Given the description of an element on the screen output the (x, y) to click on. 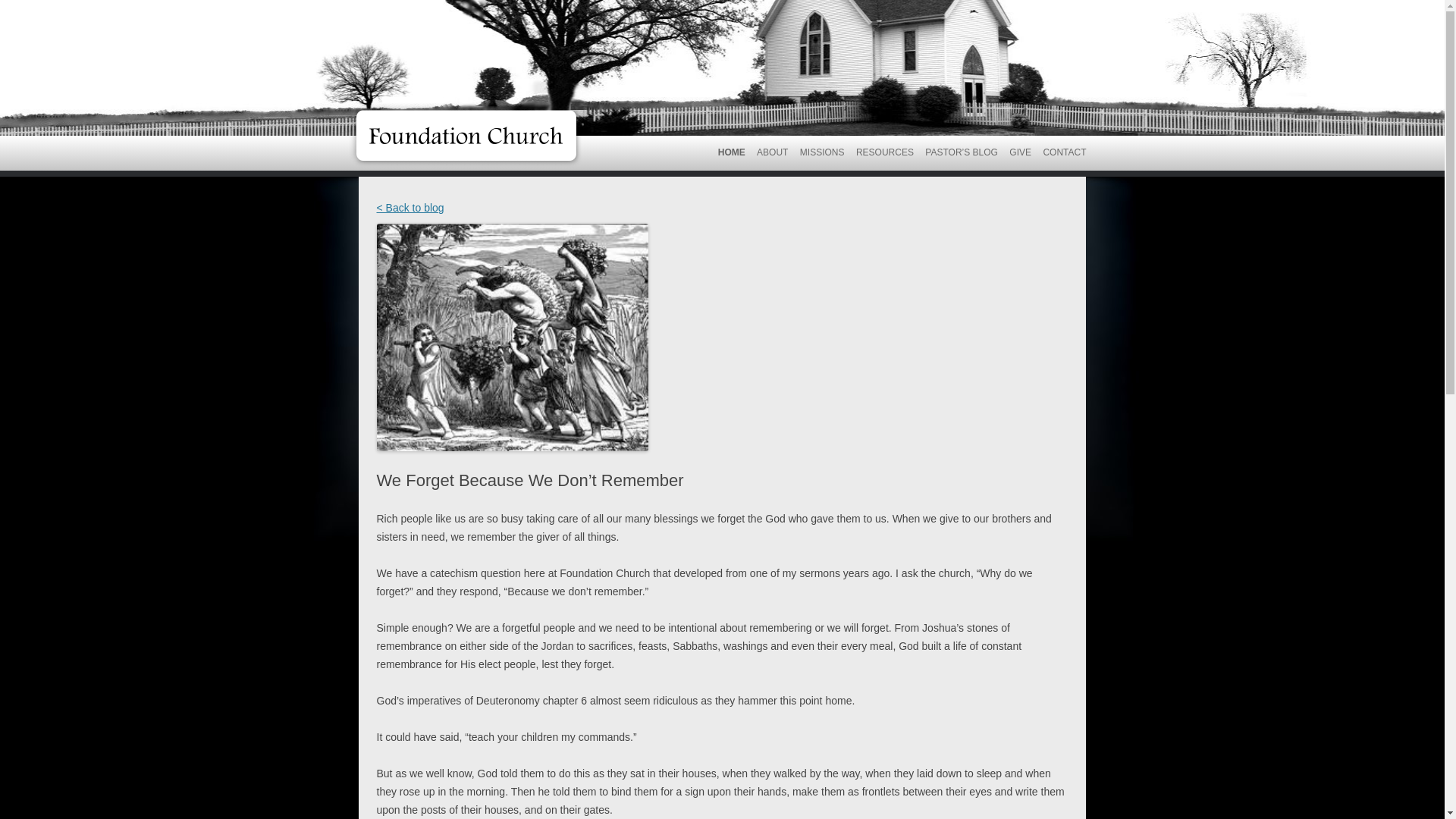
HOME (731, 151)
GIVE (1019, 151)
ABOUT (772, 151)
RESOURCES (885, 151)
MISSIONS (821, 151)
CONTACT (1064, 151)
